Given the description of an element on the screen output the (x, y) to click on. 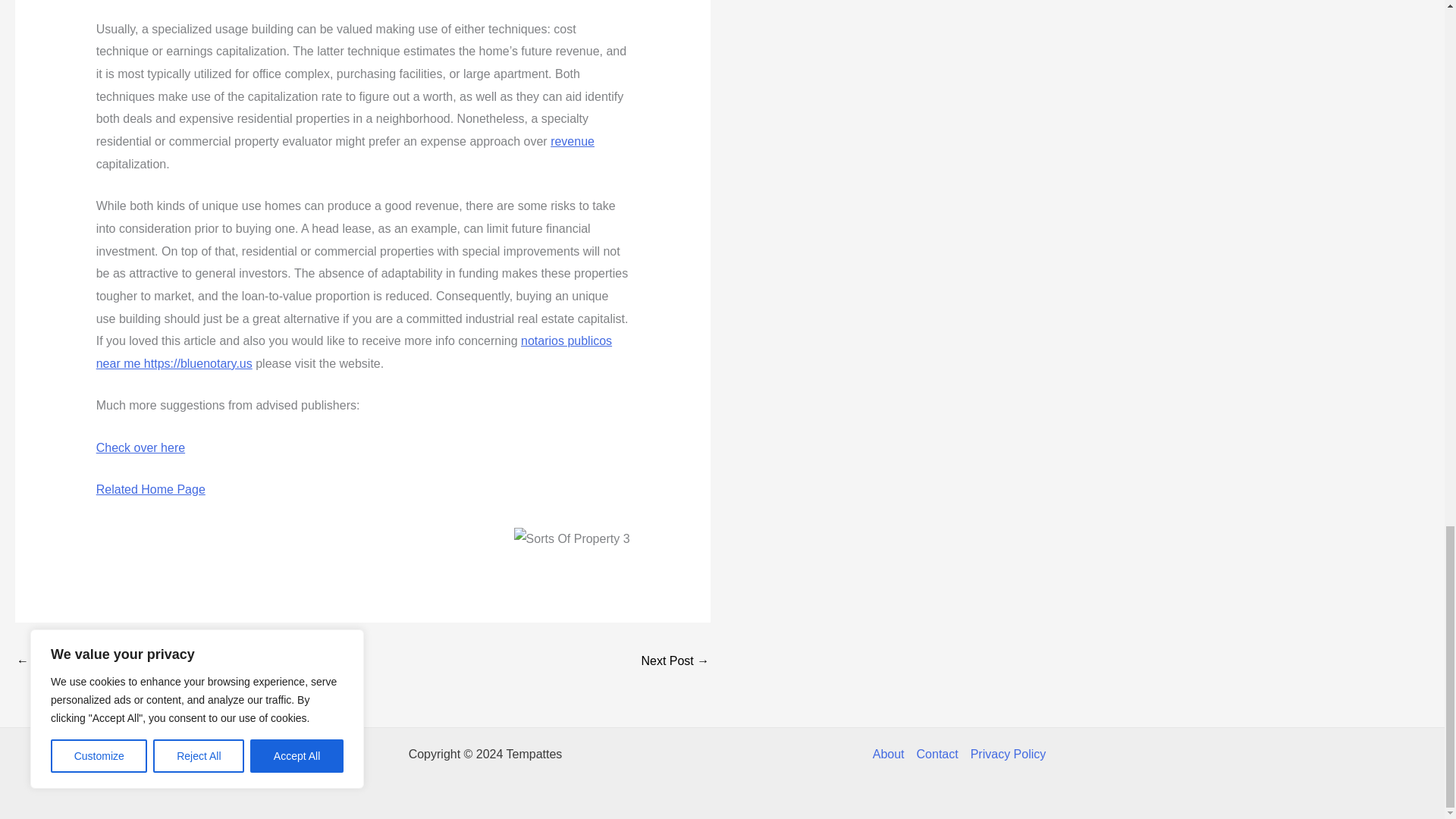
Automotive Internet Shopping (61, 662)
revenue (572, 141)
Related Home Page (150, 489)
Exactly how to Enhance Your Digital photography (674, 662)
Check over here (140, 447)
